Given the description of an element on the screen output the (x, y) to click on. 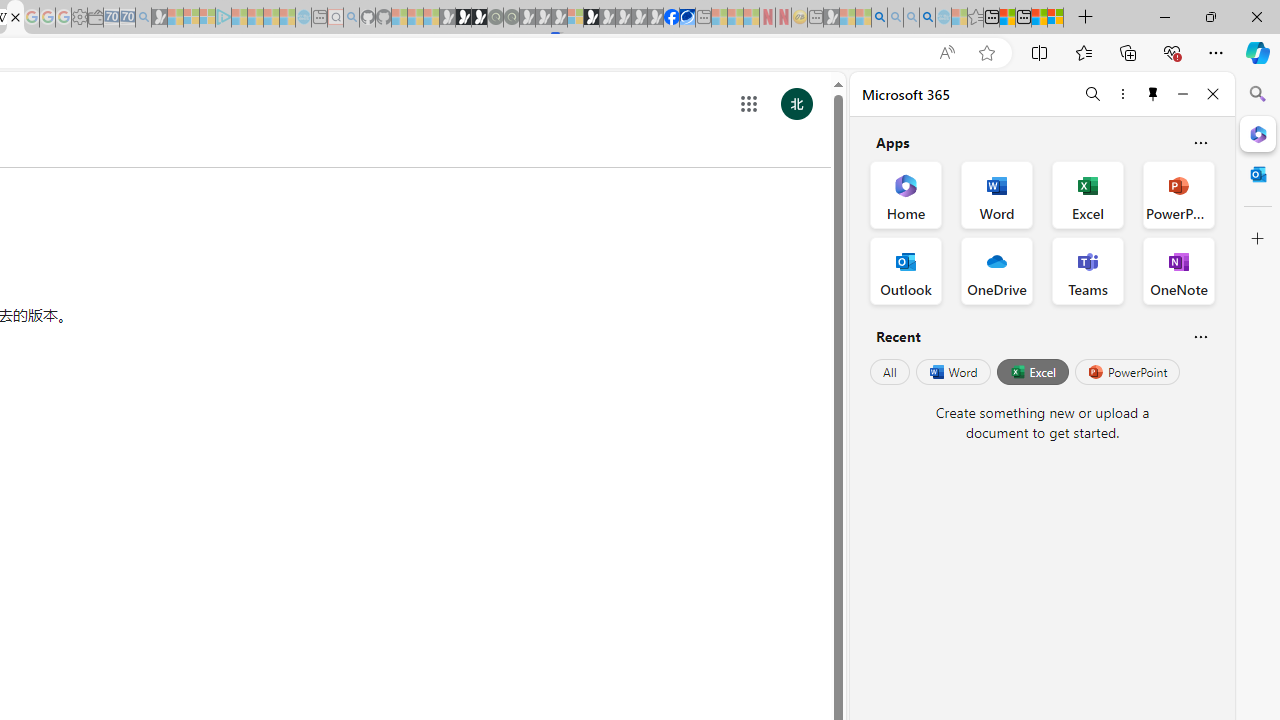
AirNow.gov (687, 17)
Wallet - Sleeping (95, 17)
PowerPoint (1127, 372)
OneNote Office App (1178, 270)
Word Office App (996, 194)
